Given the description of an element on the screen output the (x, y) to click on. 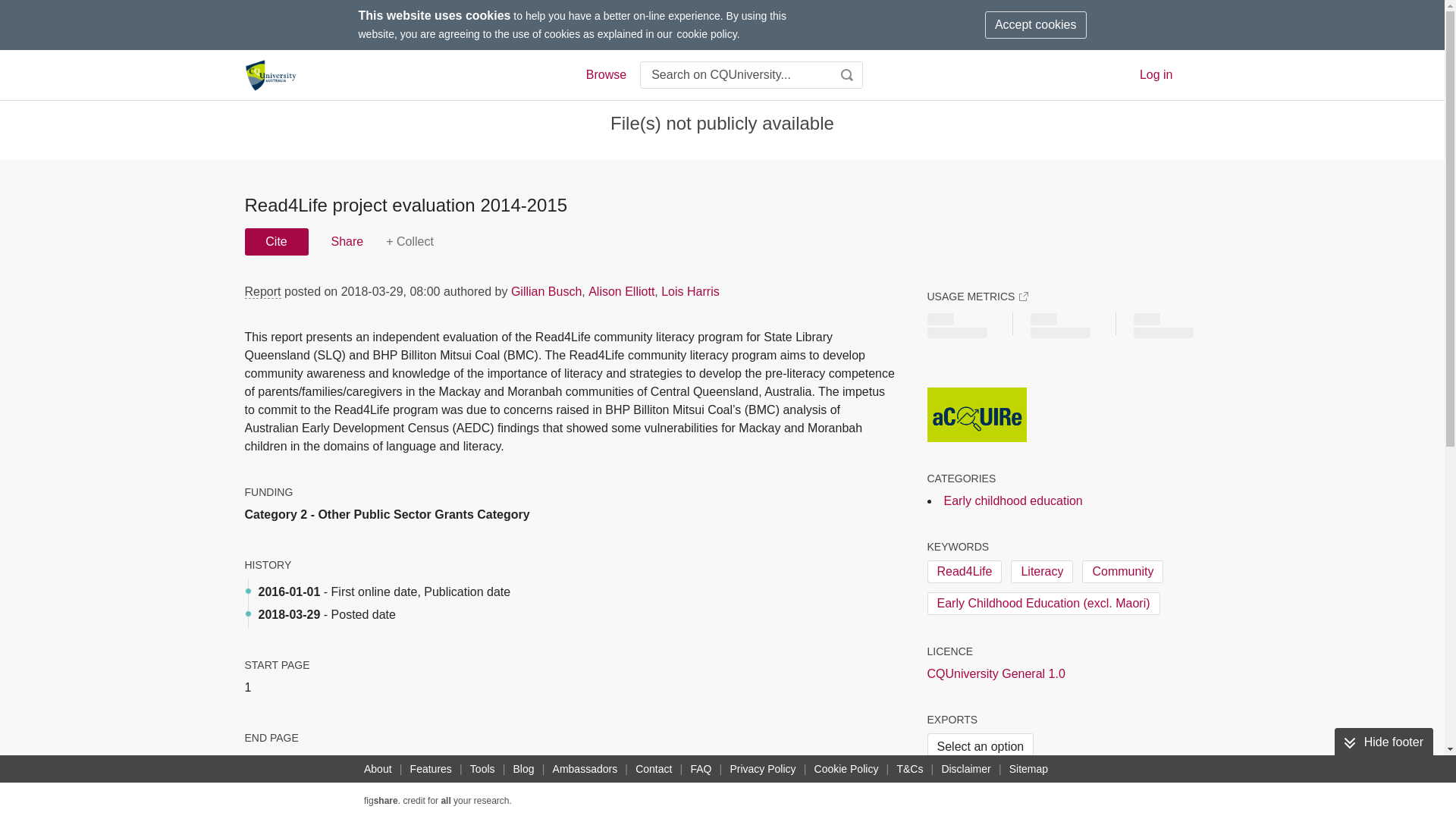
you need to log in first (409, 241)
Accept cookies (1035, 24)
Lois Harris (690, 291)
Alison Elliott (620, 291)
Early childhood education (1012, 500)
Gillian Busch (545, 291)
Blog (523, 769)
CQUniversity General 1.0 (995, 674)
cookie policy (706, 33)
Contact (653, 769)
